Given the description of an element on the screen output the (x, y) to click on. 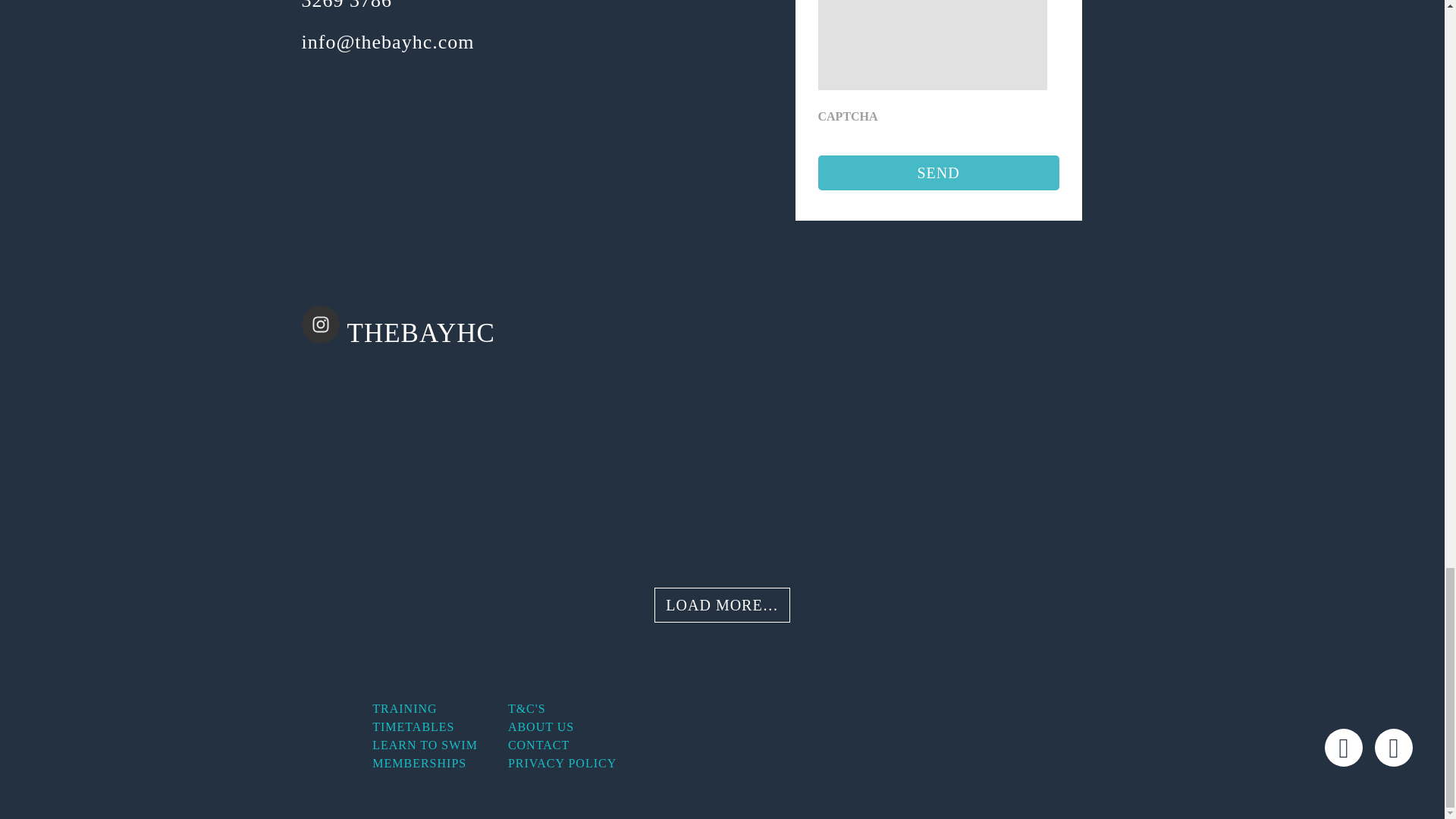
3269 3786 (347, 5)
MEMBERSHIPS (418, 762)
Send (937, 172)
TIMETABLES (413, 726)
THEBAYHC (416, 328)
TRAINING (404, 707)
PRIVACY POLICY (561, 762)
LEARN TO SWIM (424, 744)
CONTACT (538, 744)
Send (937, 172)
ABOUT US (540, 726)
